Given the description of an element on the screen output the (x, y) to click on. 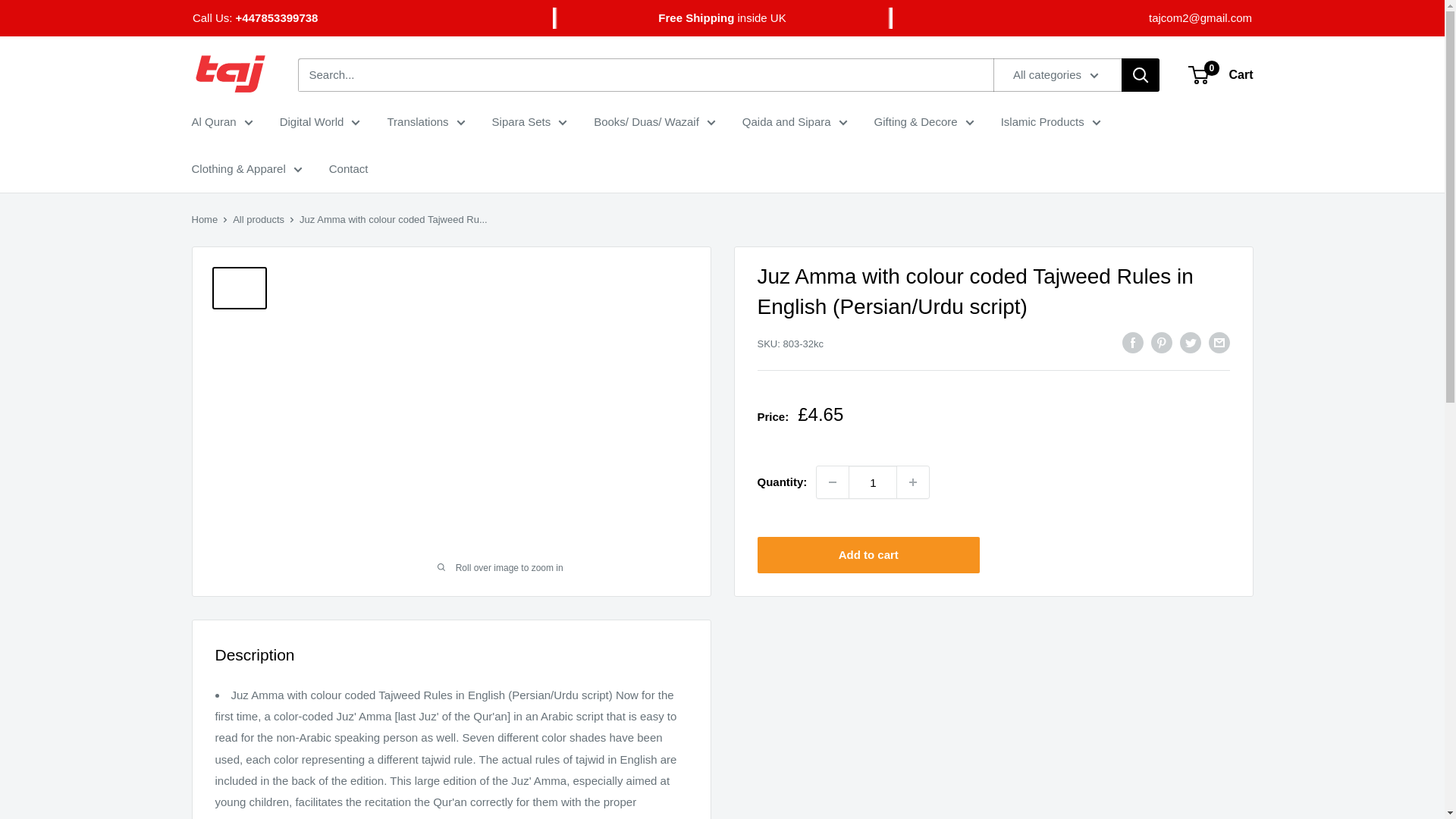
Increase quantity by 1 (912, 481)
Decrease quantity by 1 (832, 481)
1 (872, 481)
